Given the description of an element on the screen output the (x, y) to click on. 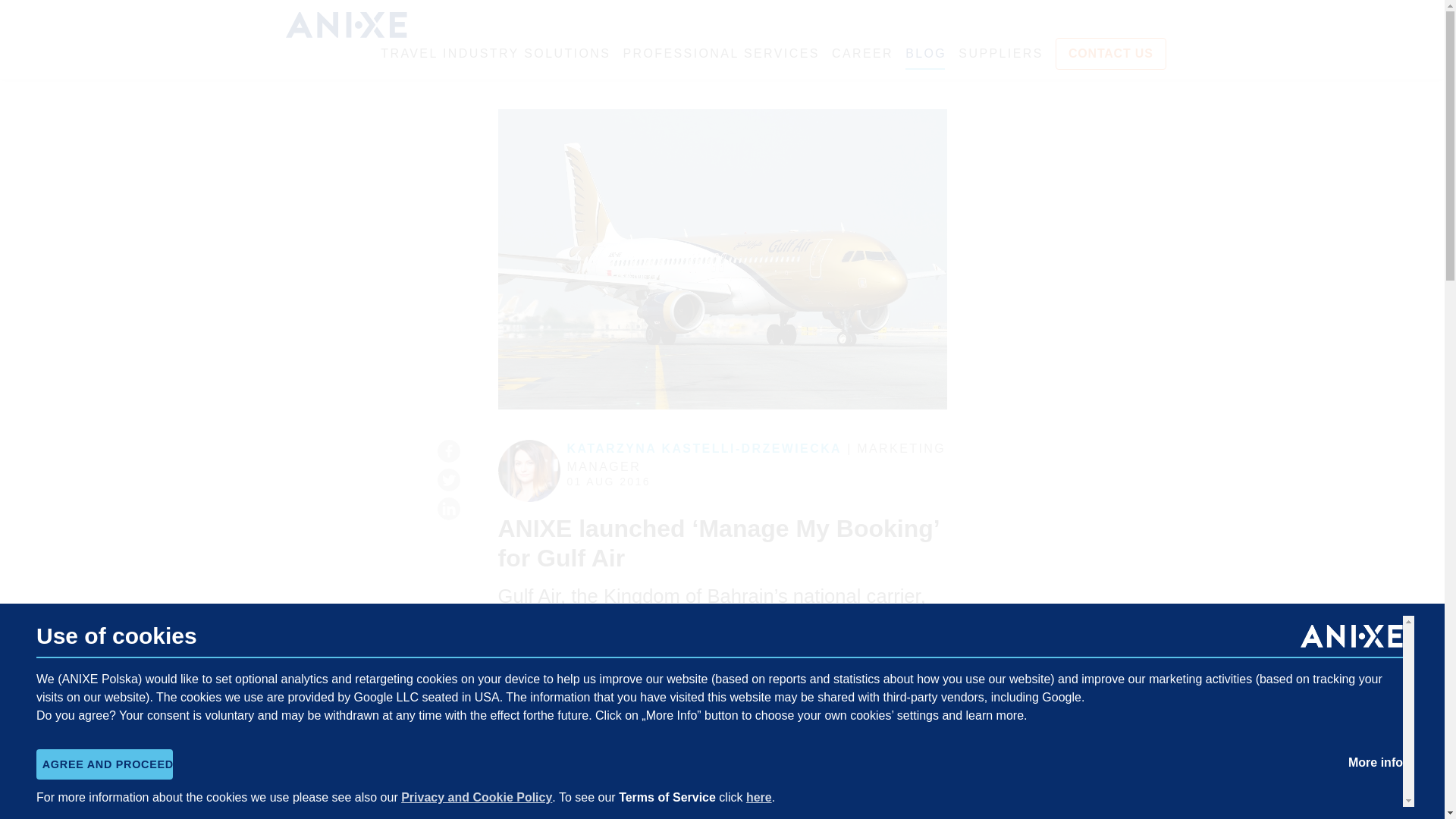
CAREER (862, 54)
AGREE AND PROCEED (104, 764)
SUPPLIERS (1000, 54)
PROFESSIONAL SERVICES (720, 54)
TRAVEL INDUSTRY SOLUTIONS (495, 54)
BLOG (925, 54)
CONTACT US (1110, 53)
